Given the description of an element on the screen output the (x, y) to click on. 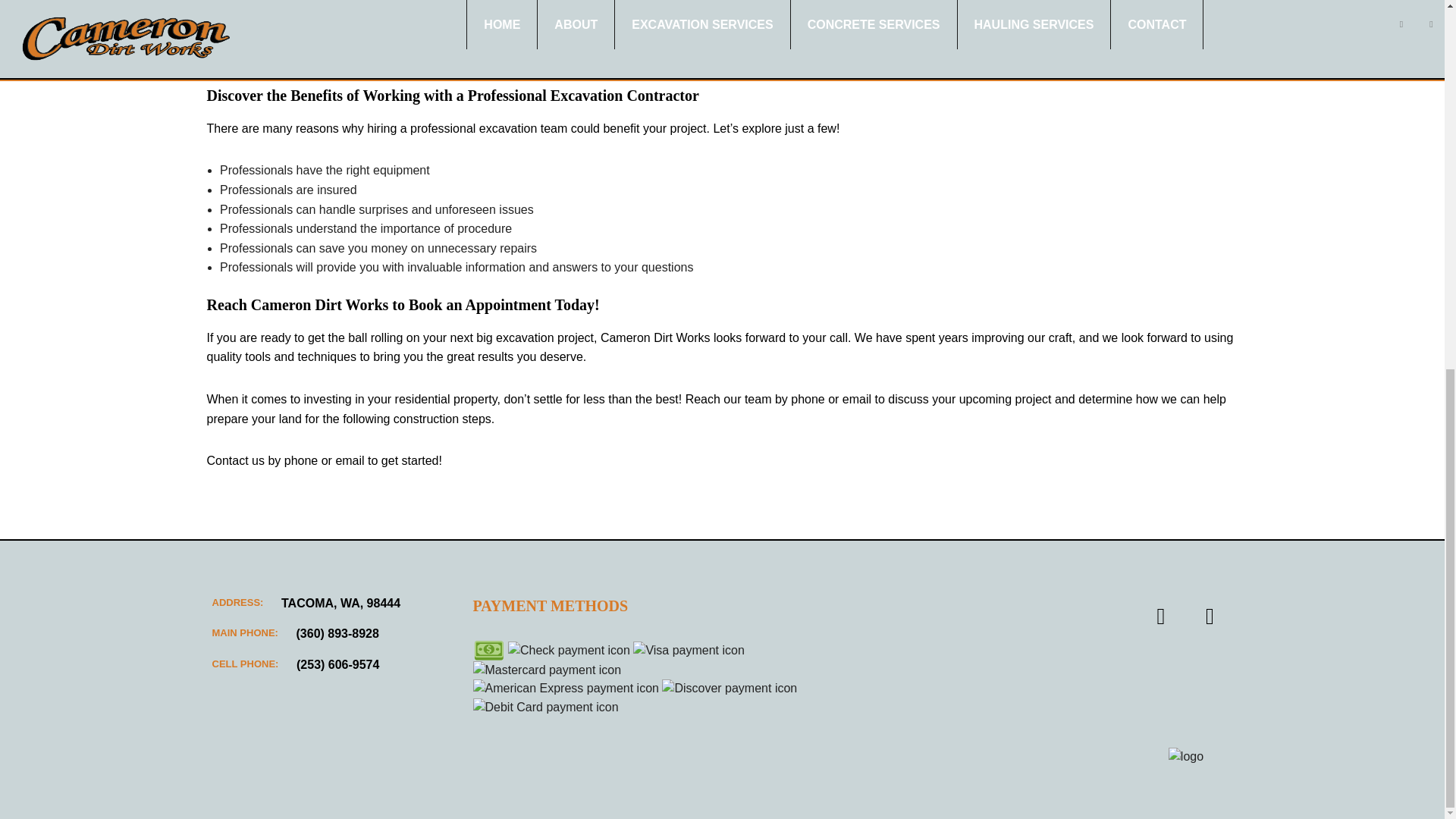
Debit Card (545, 707)
Cash (489, 650)
Mastercard (547, 669)
excavation team (523, 128)
Visa (688, 650)
American Express (566, 688)
Discover (729, 688)
Check (569, 650)
Learn more about Excavation Contractors (523, 128)
